Given the description of an element on the screen output the (x, y) to click on. 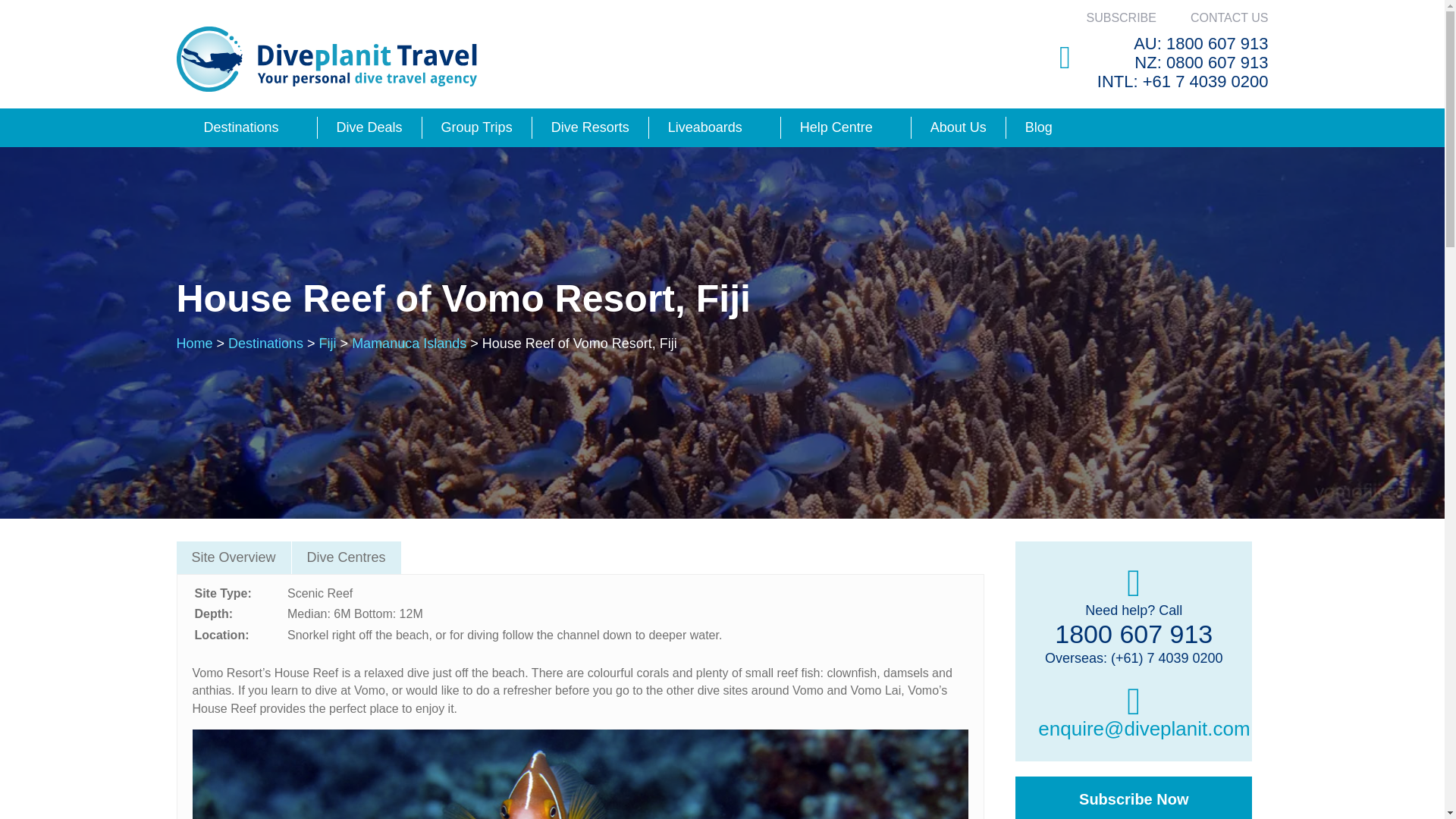
Destinations (240, 127)
NZ: 0800 607 913 (1201, 62)
SUBSCRIBE (1121, 17)
AU: 1800 607 913 (1201, 43)
CONTACT US (1229, 17)
Search (1249, 124)
Diving Destinations (240, 127)
